Given the description of an element on the screen output the (x, y) to click on. 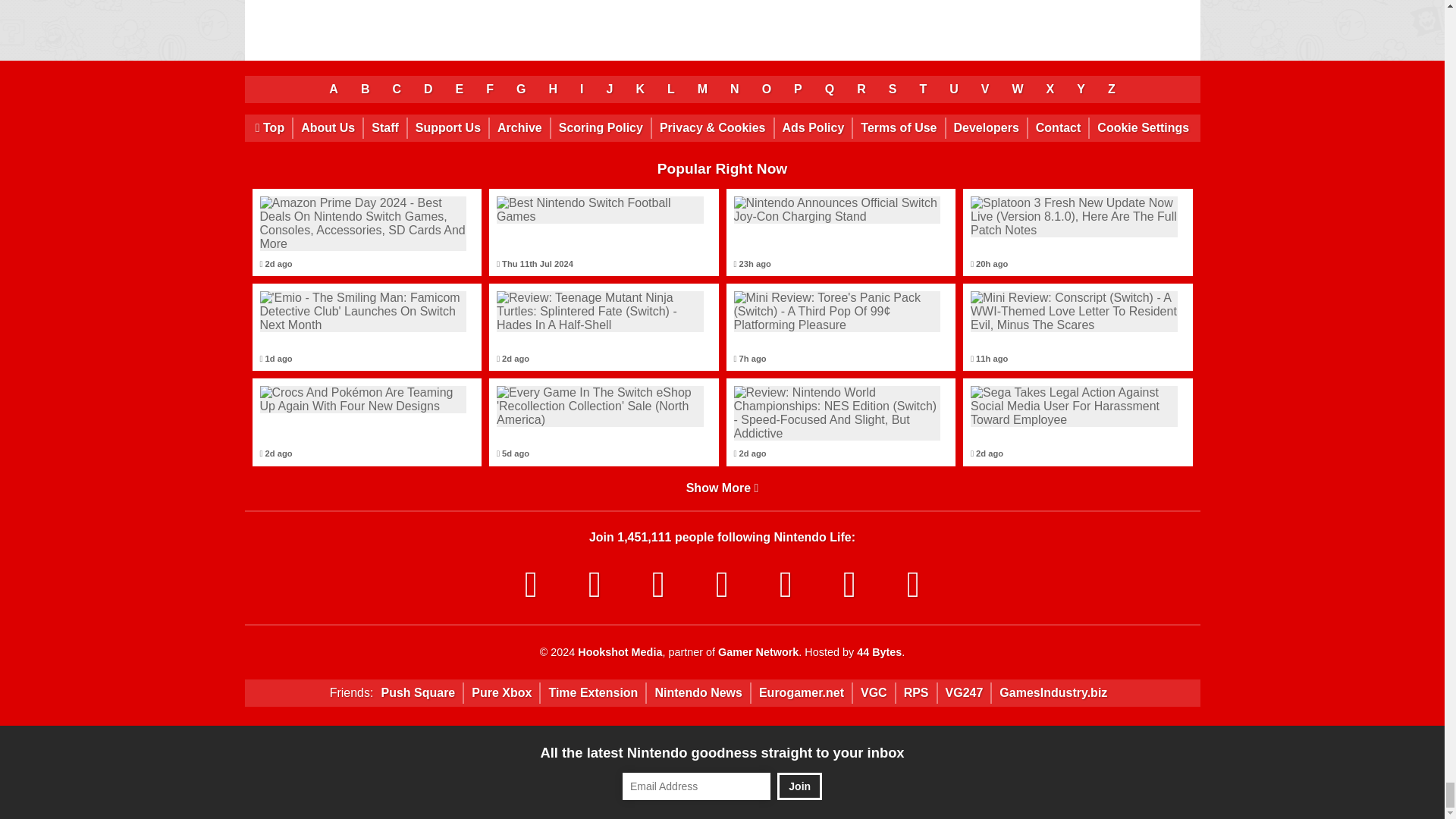
Join (799, 786)
